Given the description of an element on the screen output the (x, y) to click on. 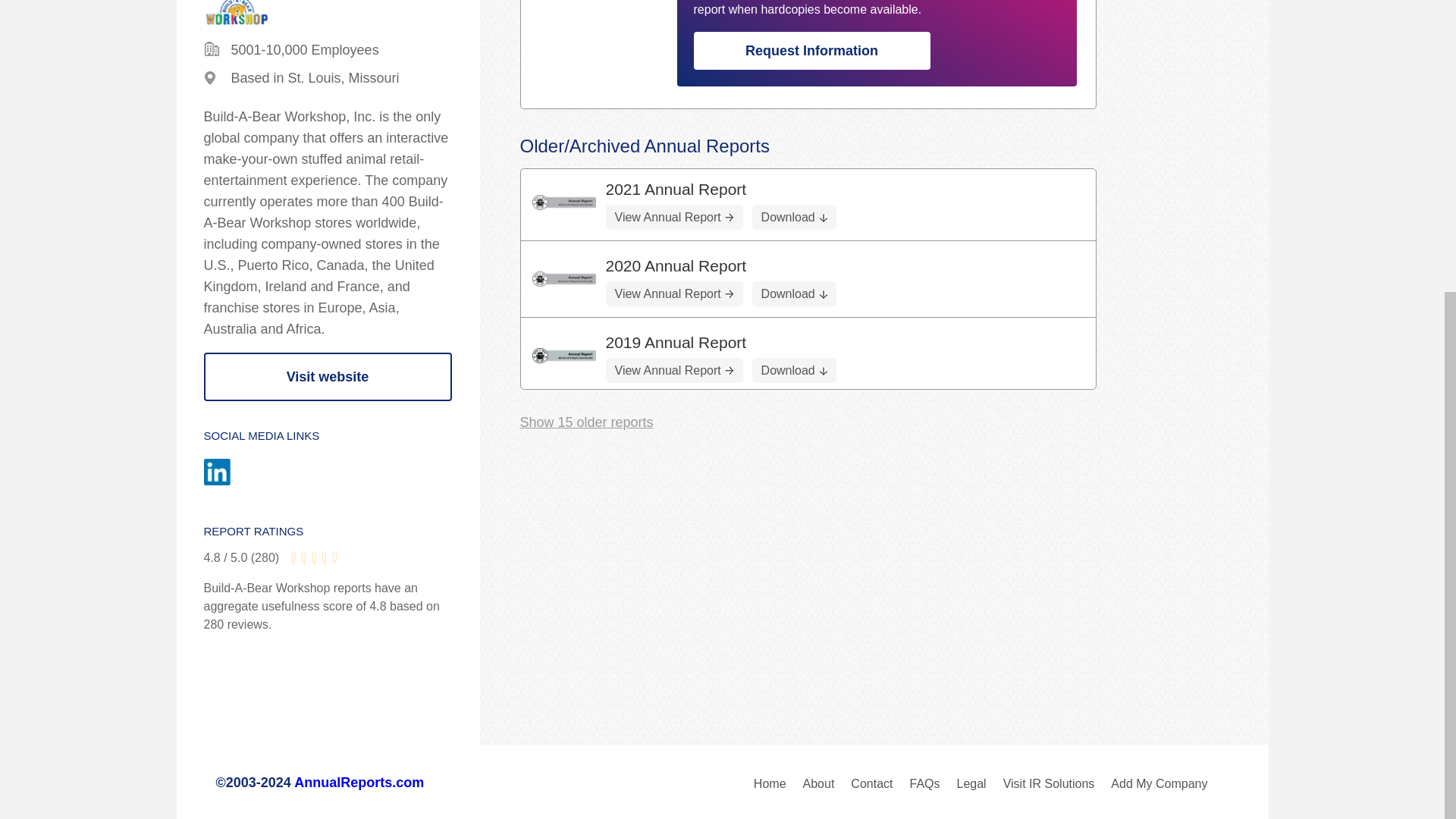
View Annual Report (673, 370)
Download (793, 370)
Download (793, 293)
Visit website (327, 376)
Build-A-Bear Workshop (563, 201)
Visit Build-A-Bear Workshop on LinkedIn (231, 473)
Request Information (811, 50)
Download (793, 217)
Build-A-Bear Workshop (563, 278)
View Annual Report (673, 217)
View Annual Report (673, 293)
Build-A-Bear Workshop (563, 355)
